Given the description of an element on the screen output the (x, y) to click on. 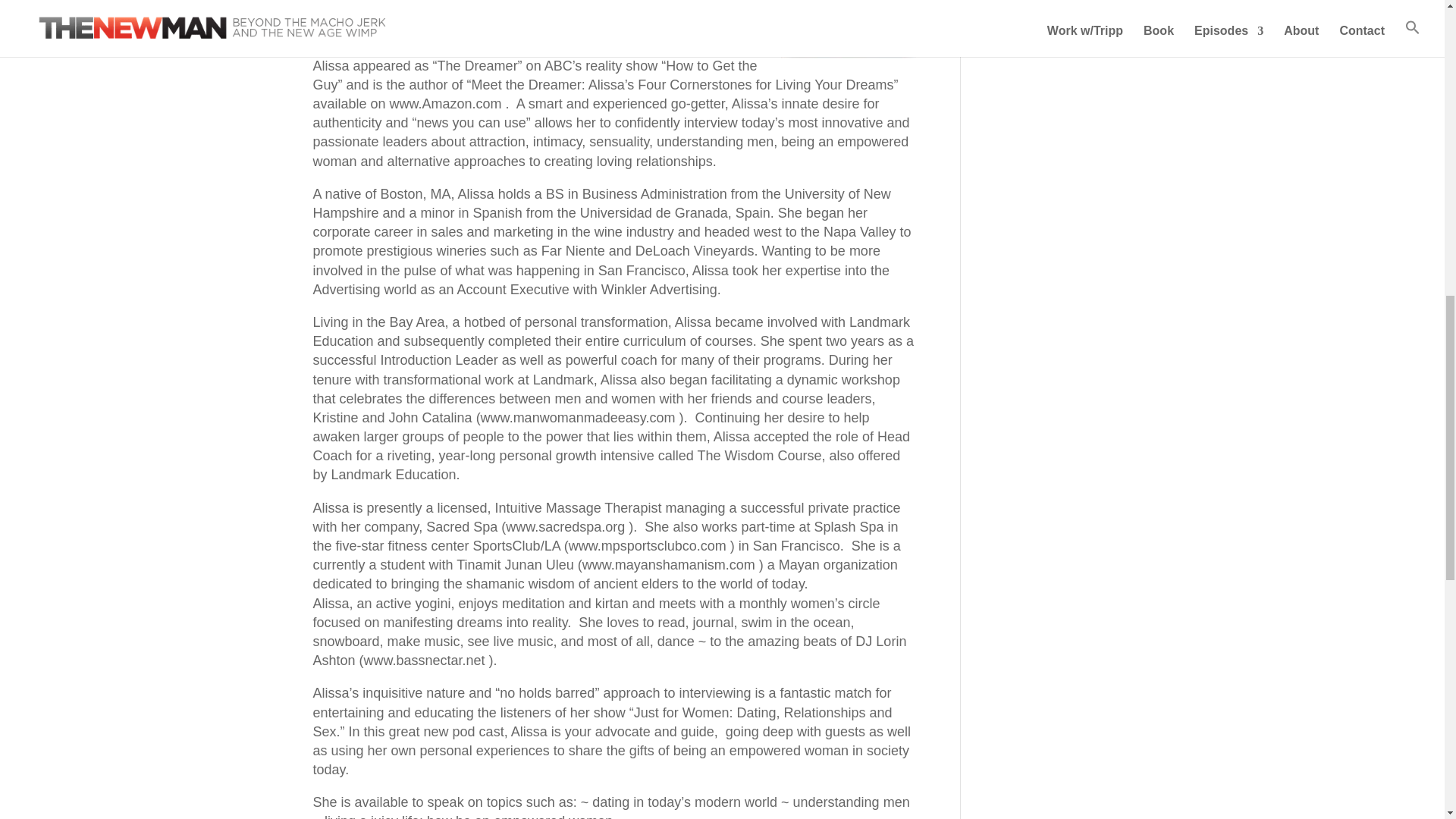
h-alissa-kriteman-SM (847, 29)
